Given the description of an element on the screen output the (x, y) to click on. 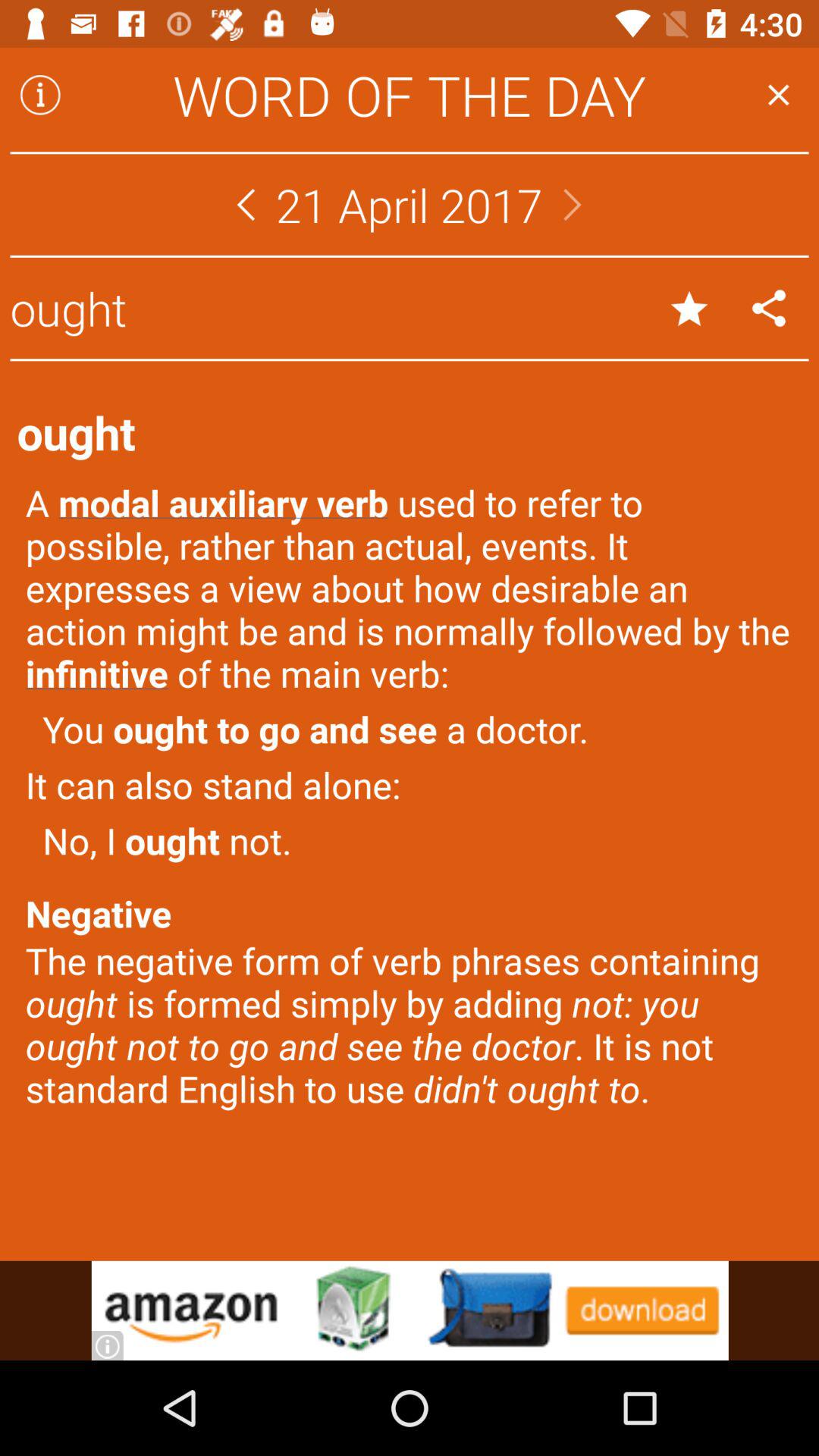
go to next (572, 204)
